Given the description of an element on the screen output the (x, y) to click on. 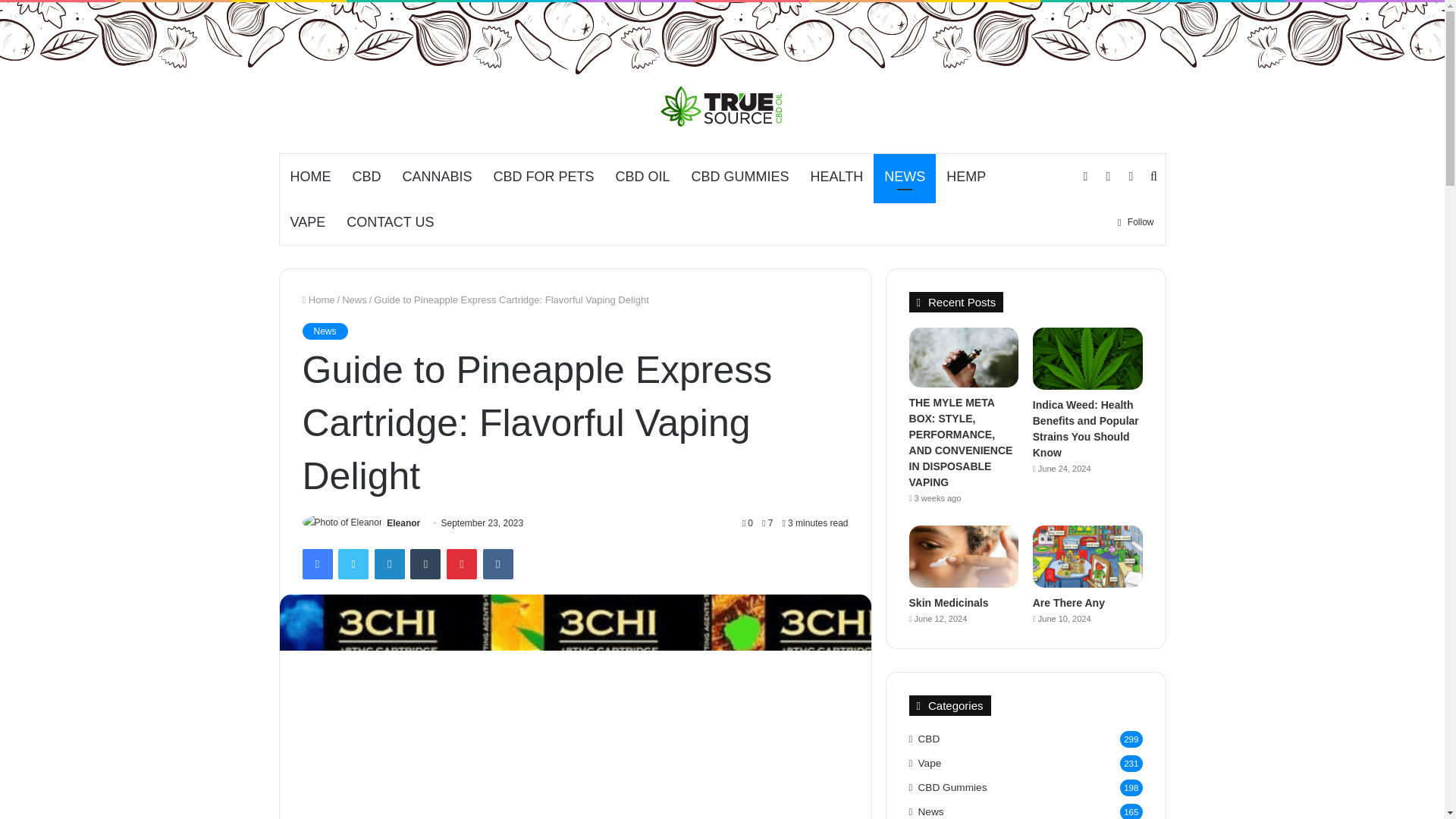
NEWS (904, 176)
CBD GUMMIES (740, 176)
Tumblr (425, 563)
Eleanor (403, 522)
Facebook (316, 563)
HEMP (965, 176)
Follow (1135, 221)
Facebook (316, 563)
TRUE SOURCE CBD OIL (722, 105)
CONTACT US (390, 221)
News (324, 330)
Twitter (352, 563)
VKontakte (498, 563)
Eleanor (403, 522)
Twitter (352, 563)
